Given the description of an element on the screen output the (x, y) to click on. 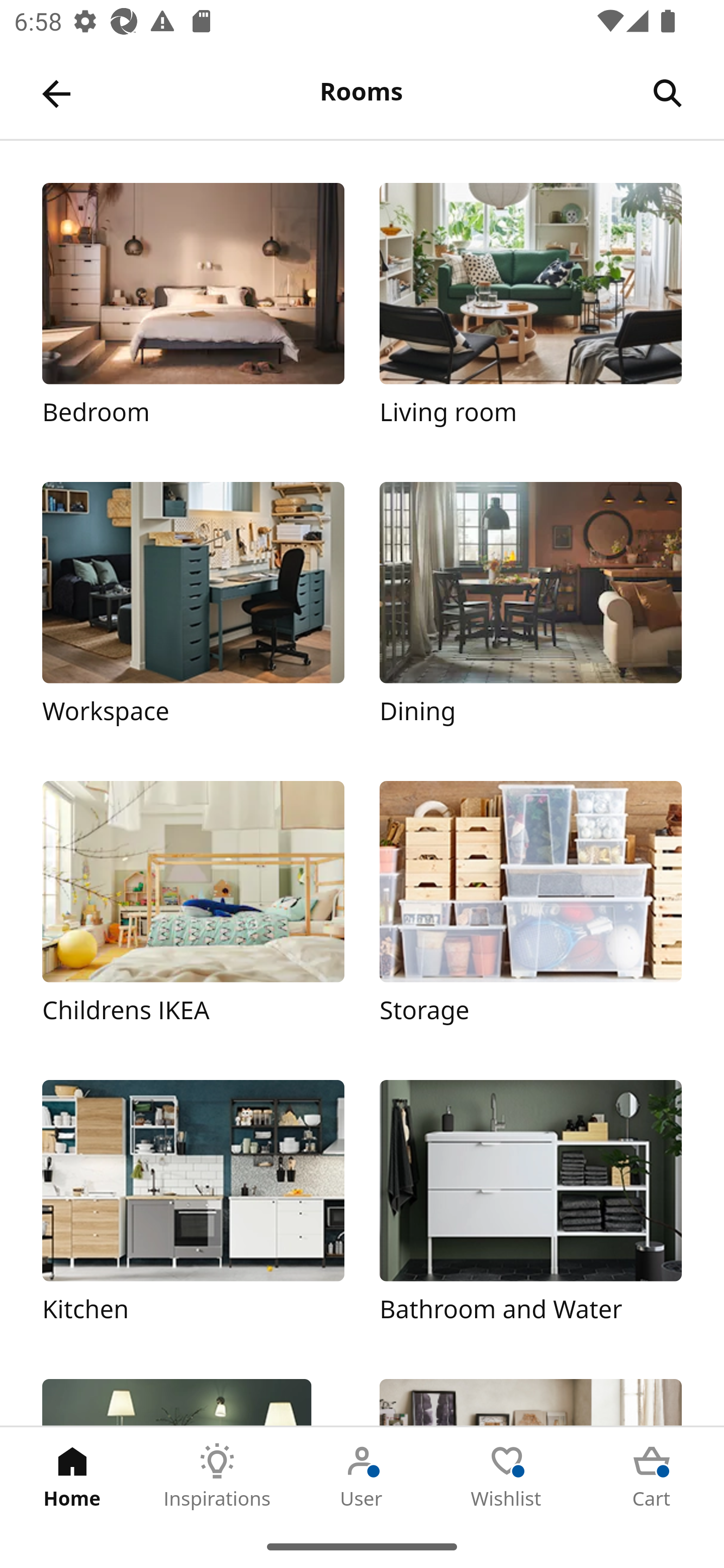
Bedroom (192, 314)
Living room (530, 314)
Workspace (192, 613)
Dining (530, 613)
Childrens IKEA (192, 912)
Storage (530, 912)
Kitchen (192, 1211)
Bathroom and Water (530, 1211)
Home
Tab 1 of 5 (72, 1476)
Inspirations
Tab 2 of 5 (216, 1476)
User
Tab 3 of 5 (361, 1476)
Wishlist
Tab 4 of 5 (506, 1476)
Cart
Tab 5 of 5 (651, 1476)
